Given the description of an element on the screen output the (x, y) to click on. 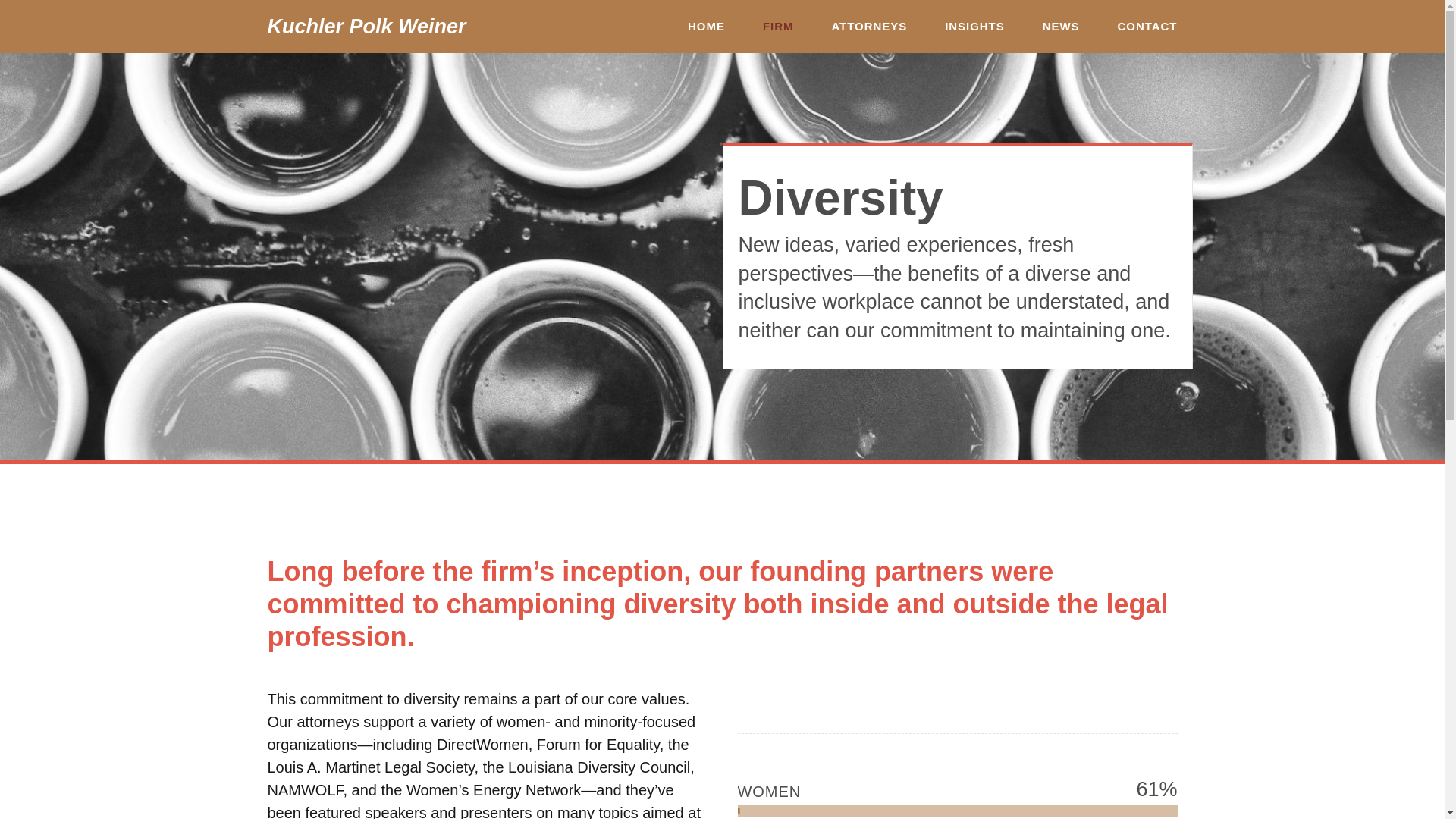
CONTACT (1147, 26)
Kuchler Polk Weiner (365, 26)
ATTORNEYS (869, 26)
INSIGHTS (974, 26)
